Given the description of an element on the screen output the (x, y) to click on. 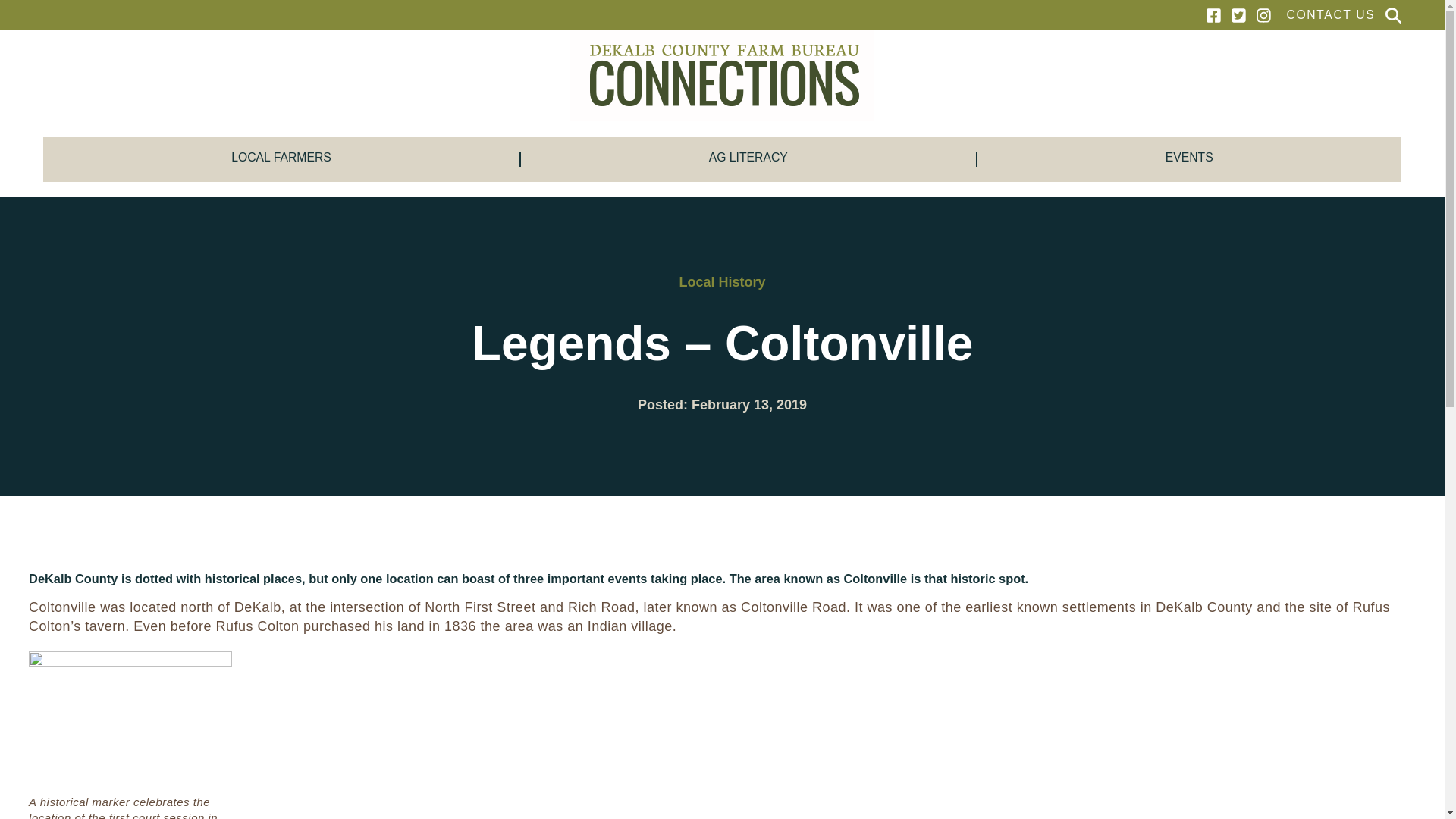
CONTACT US (1330, 15)
EVENTS (1188, 159)
AG LITERACY (748, 159)
Local History (721, 281)
LOCAL FARMERS (281, 159)
